Given the description of an element on the screen output the (x, y) to click on. 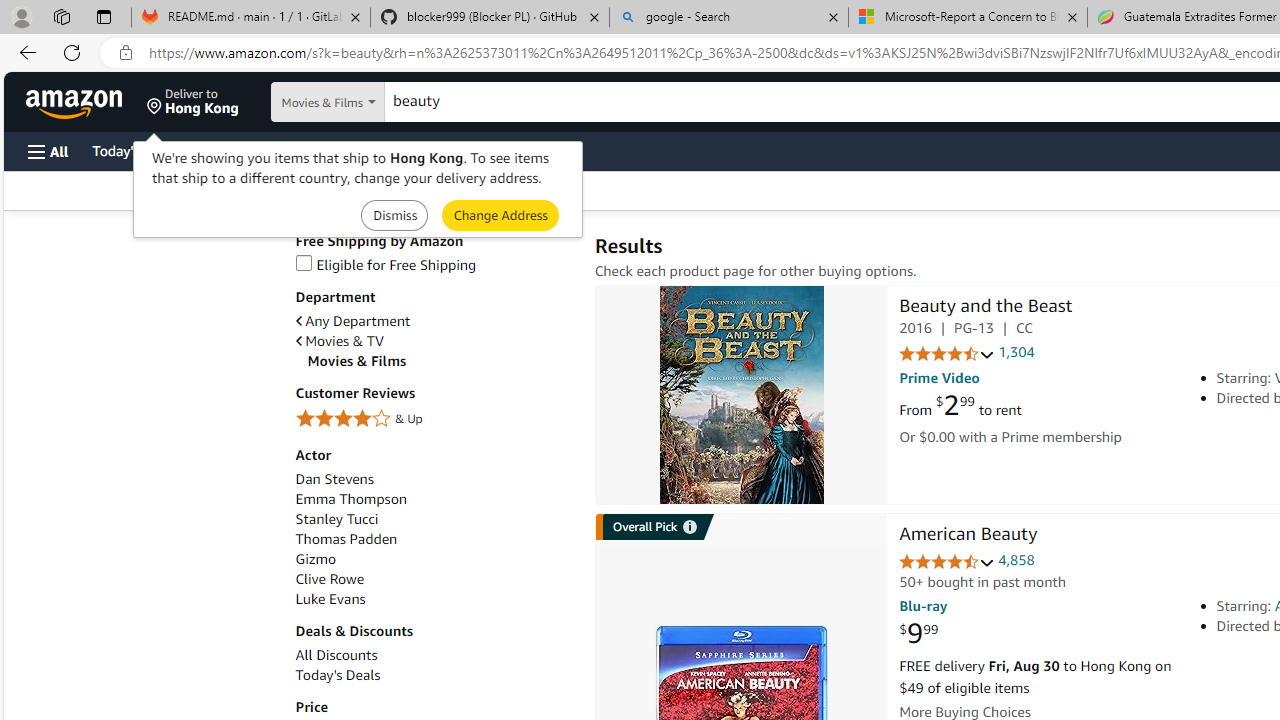
Luke Evans (330, 599)
Emma Thompson (434, 499)
Clive Rowe (434, 579)
Today's Deals (434, 675)
Luke Evans (434, 599)
Any Department (352, 321)
Movies & Films (440, 361)
Registry (360, 150)
Open Menu (48, 151)
Gizmo (434, 559)
Emma Thompson (350, 499)
Beauty and the Beast (985, 308)
